Given the description of an element on the screen output the (x, y) to click on. 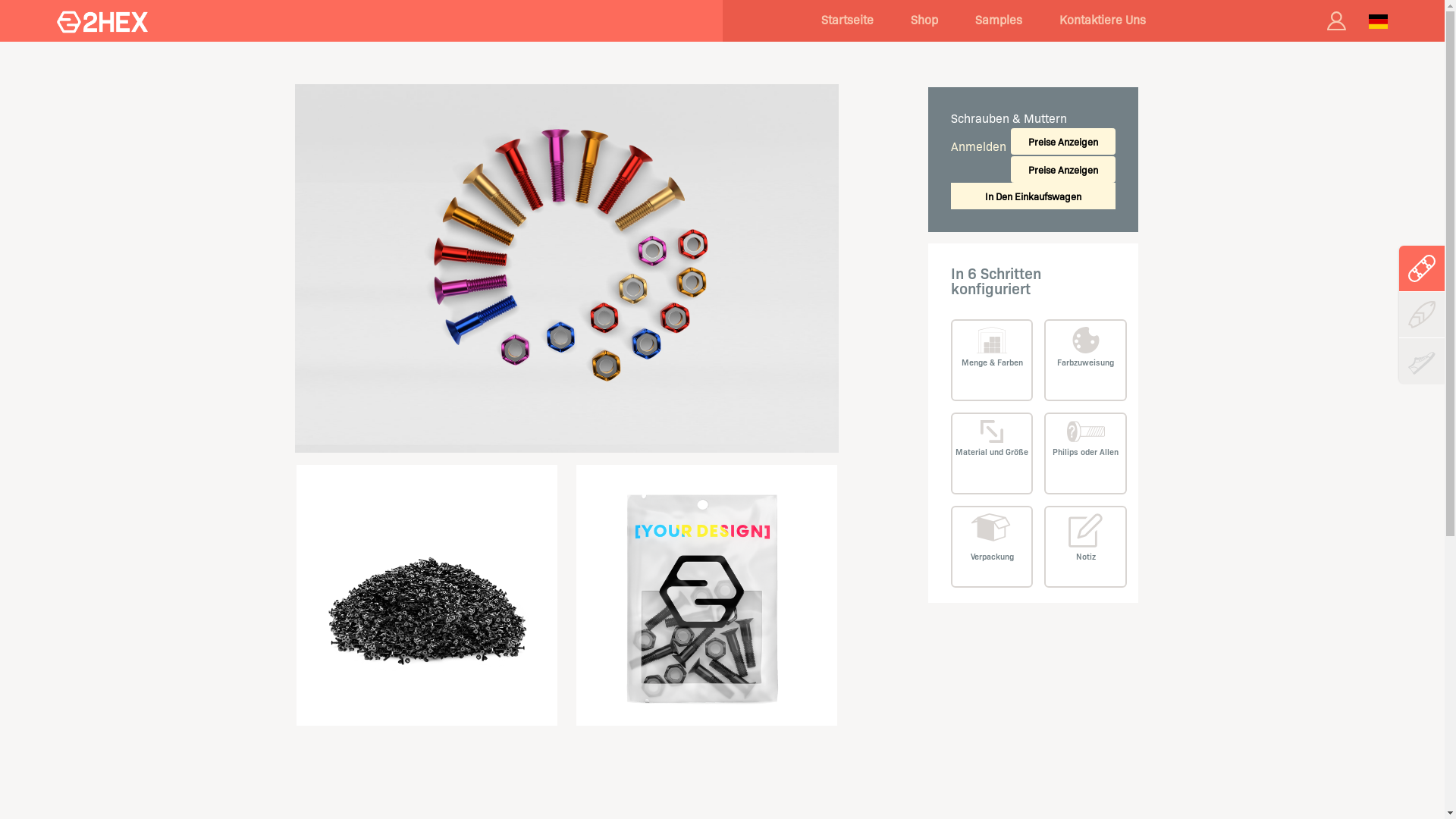
In Den Einkaufswagen Element type: text (1033, 195)
Samples Element type: text (998, 20)
Kontaktiere Uns Element type: text (1101, 20)
Shop Element type: text (923, 20)
Preise Anzeigen Element type: text (1062, 169)
Design Preview Element type: hover (566, 268)
Preise Anzeigen Element type: text (1062, 141)
Startseite Element type: text (846, 20)
